Given the description of an element on the screen output the (x, y) to click on. 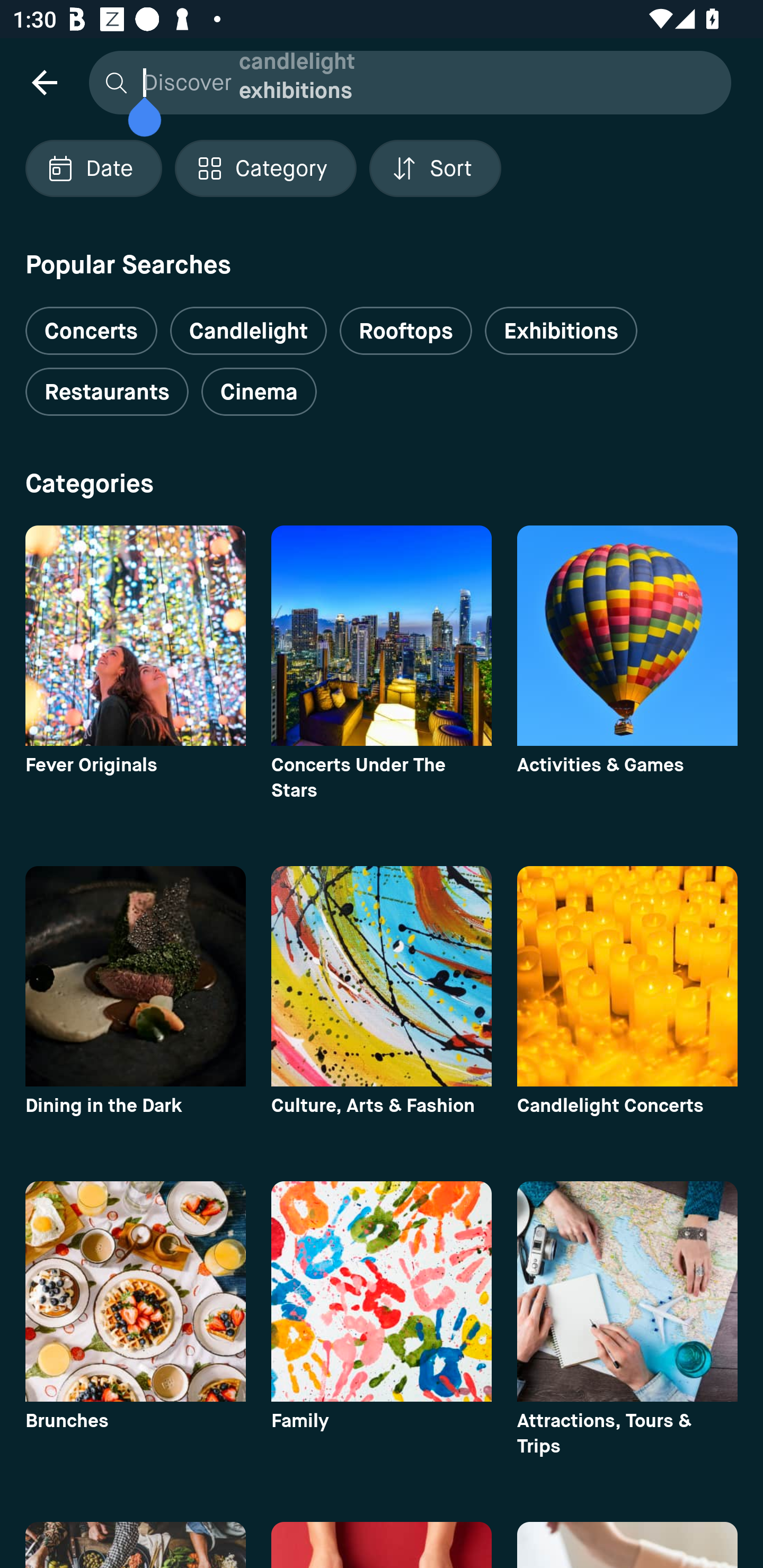
navigation icon (44, 81)
Discover candlelight (405, 81)
Localized description Date (93, 168)
Localized description Category (265, 168)
Localized description Sort (435, 168)
Concerts (91, 323)
Candlelight (248, 330)
Rooftops (405, 330)
Exhibitions (560, 330)
Restaurants (106, 391)
Cinema (258, 391)
category image (135, 635)
category image (381, 635)
category image (627, 635)
category image (135, 975)
category image (381, 975)
category image (627, 975)
category image (135, 1290)
category image (381, 1290)
category image (627, 1290)
